Given the description of an element on the screen output the (x, y) to click on. 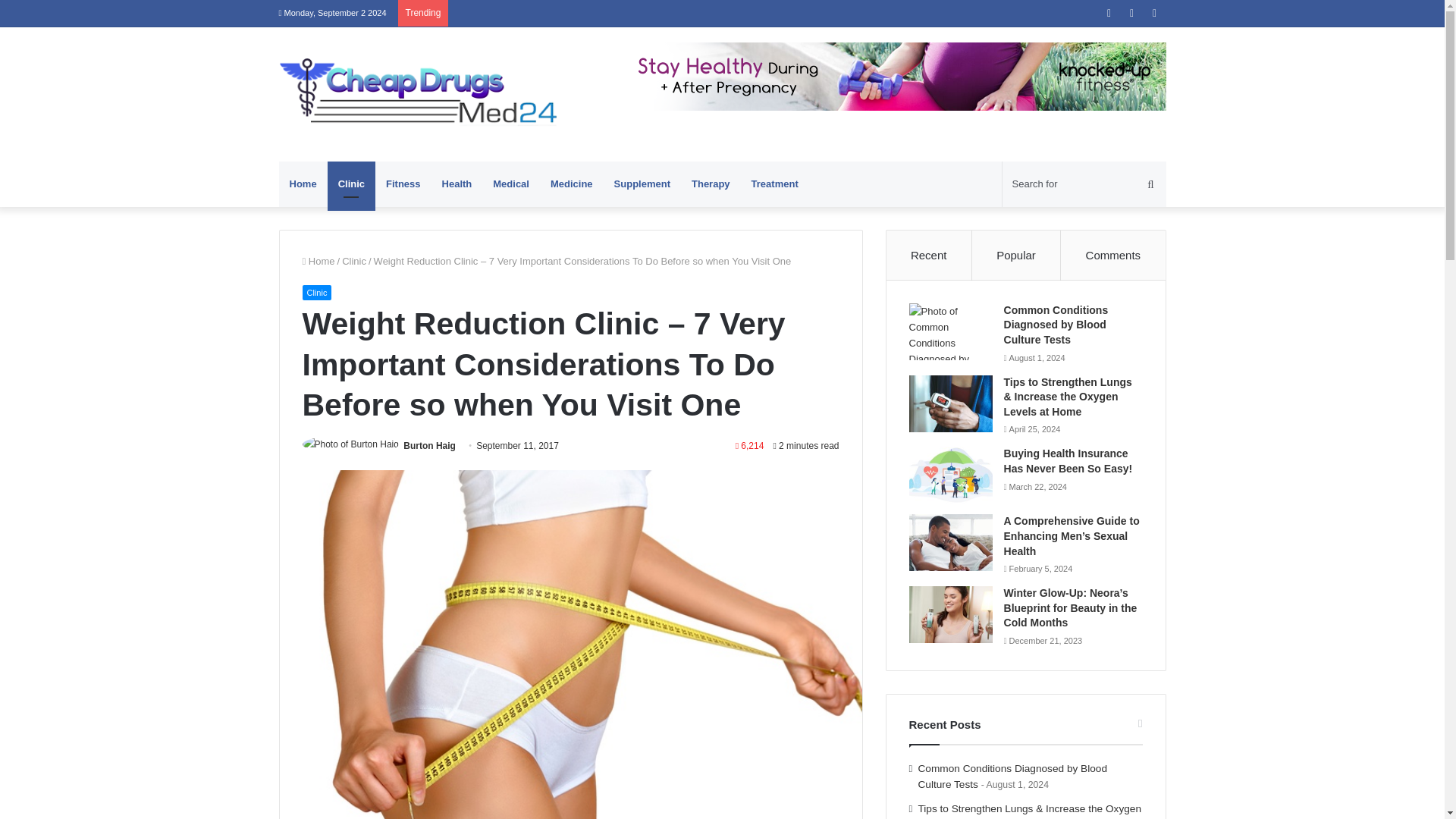
Cheap Drugs Med24 : Latest trends in health and wellness (419, 94)
Medicine (572, 184)
Clinic (316, 292)
Medical (510, 184)
Clinic (351, 184)
Clinic (354, 260)
Search for (1084, 184)
Home (303, 184)
Home (317, 260)
Supplement (642, 184)
